Given the description of an element on the screen output the (x, y) to click on. 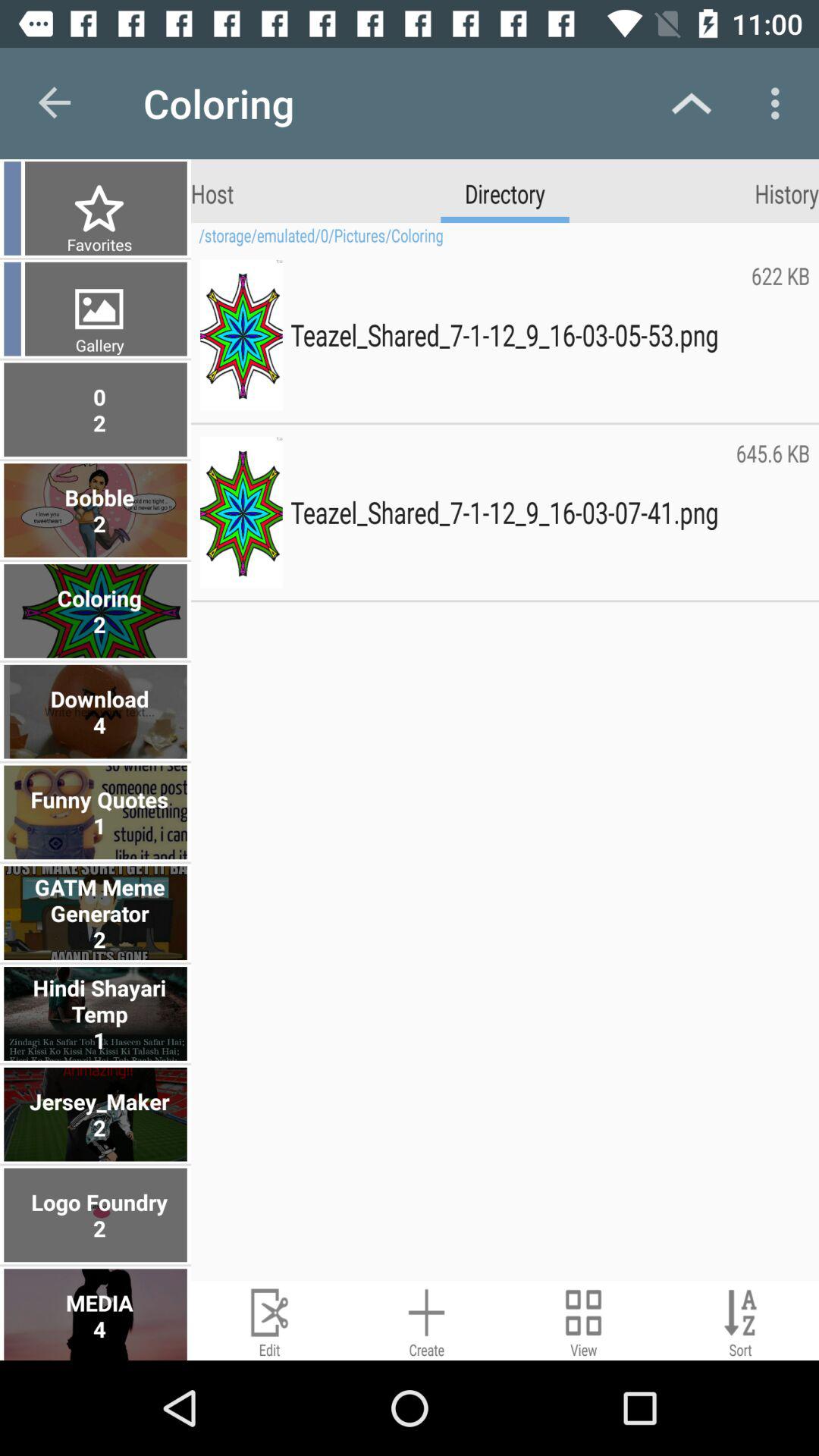
change view mode (583, 1320)
